Given the description of an element on the screen output the (x, y) to click on. 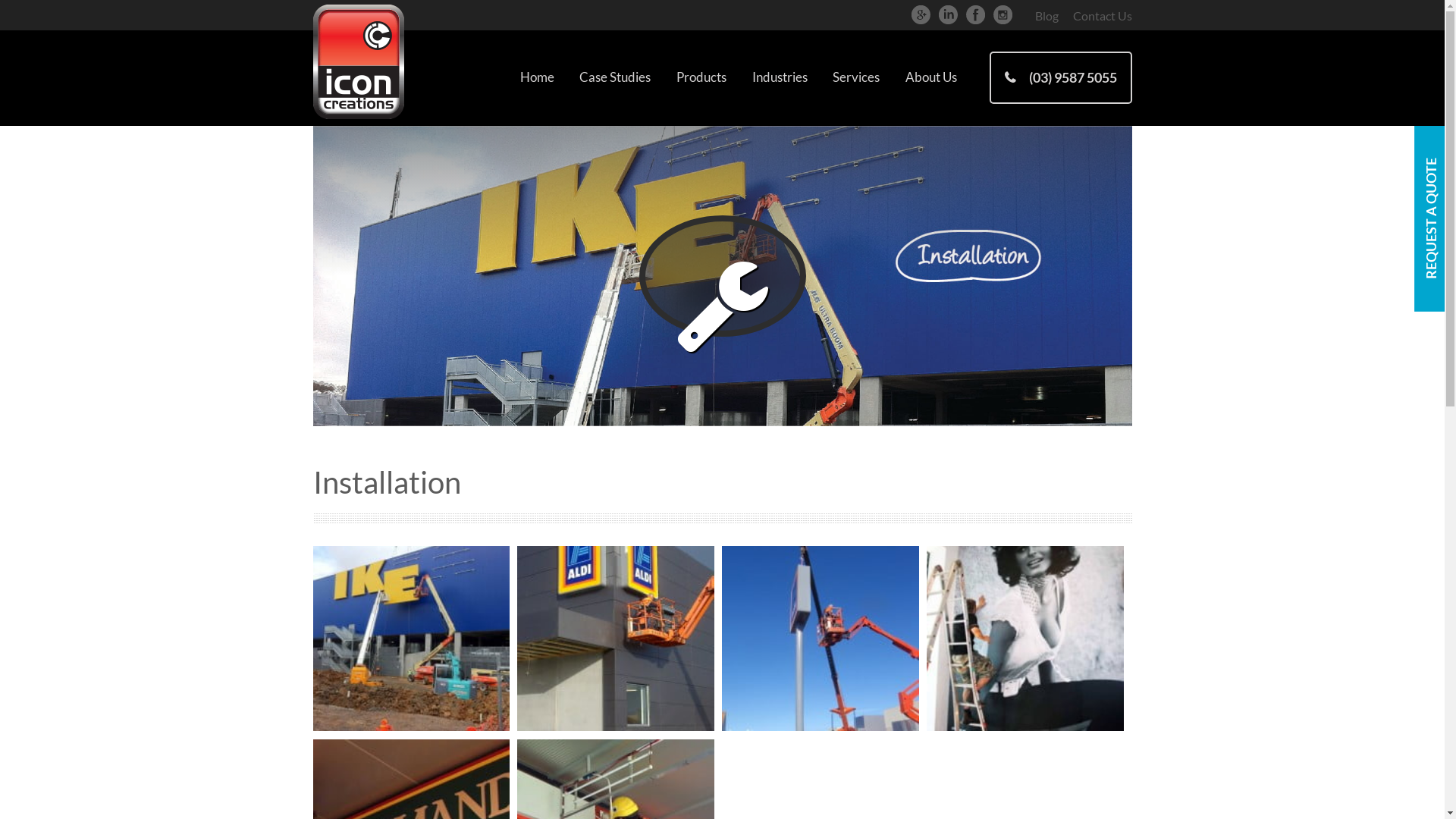
(03) 9587 5055 Element type: text (1060, 77)
About Us Element type: text (930, 77)
Blog Element type: text (1045, 15)
Icon Creation Australia Element type: hover (357, 64)
Case Studies Element type: text (615, 77)
Industries Element type: text (779, 77)
Services Element type: text (855, 77)
Contact Us Element type: text (1098, 15)
Products Element type: text (701, 77)
Home Element type: text (537, 77)
